Given the description of an element on the screen output the (x, y) to click on. 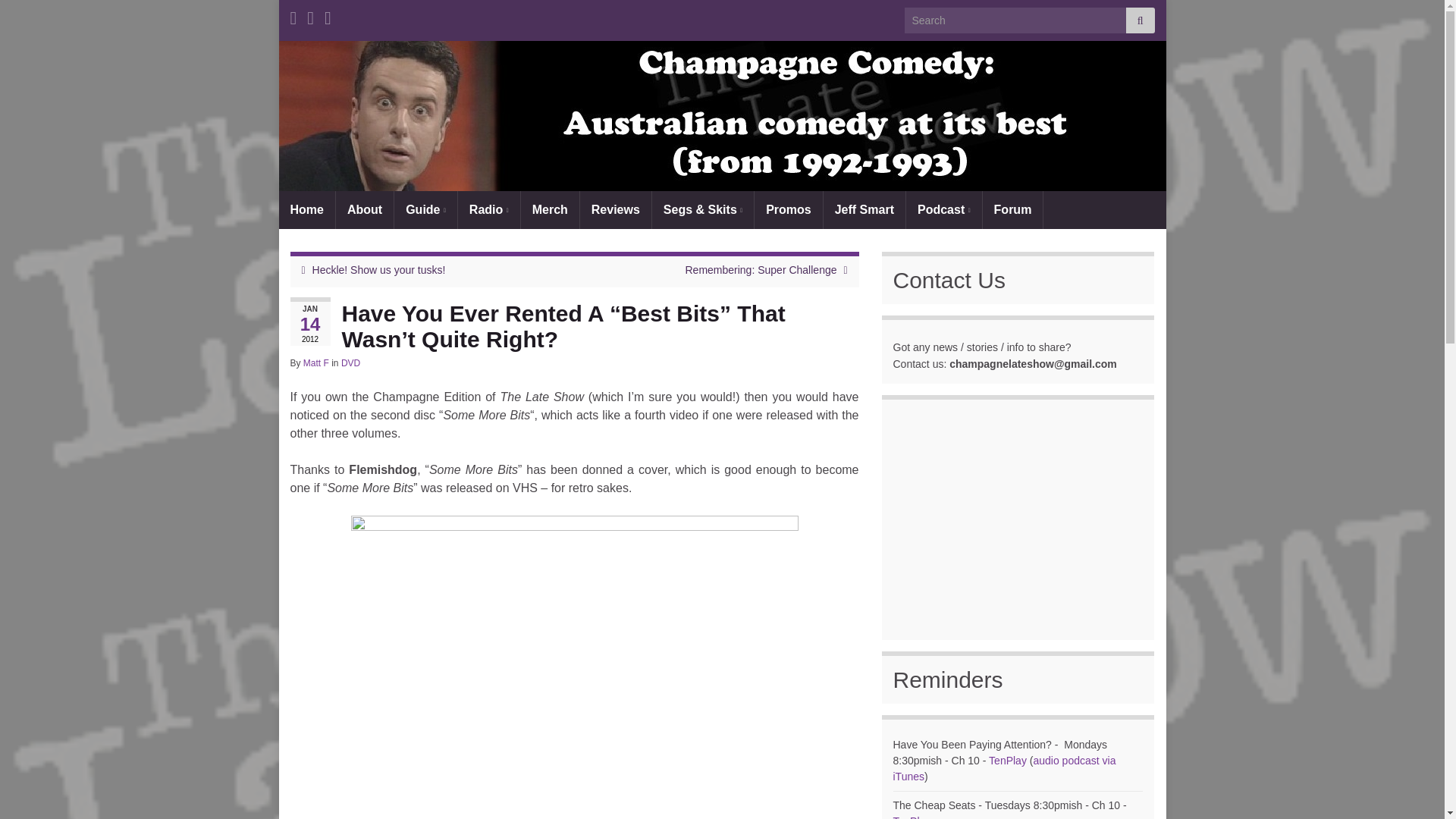
About (364, 209)
ChampagneComedy.com - The Late Show Ultimate Fan Site (722, 115)
Home (306, 209)
Guide (425, 209)
